Given the description of an element on the screen output the (x, y) to click on. 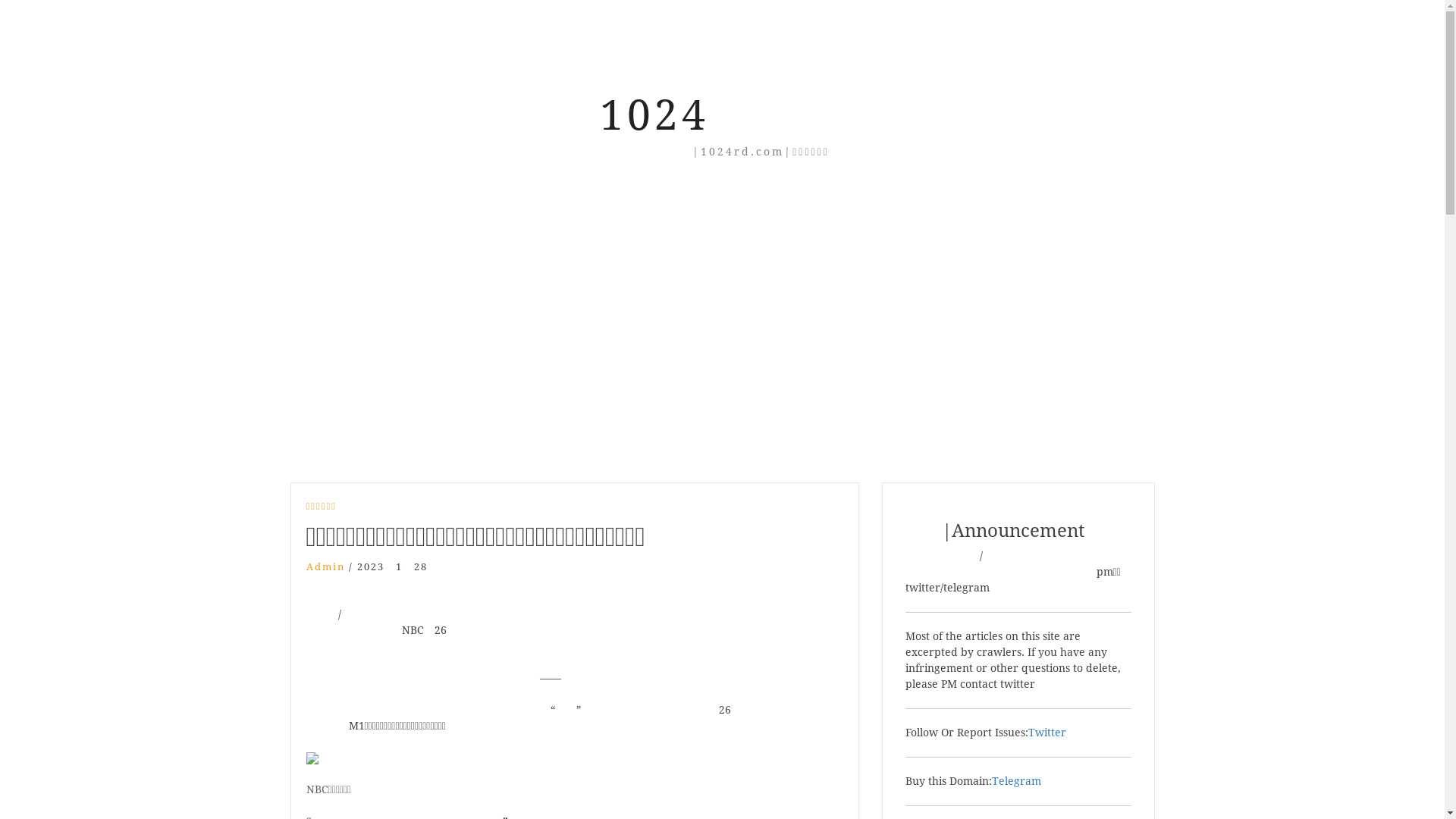
Advertisement Element type: hover (722, 273)
Admin Element type: text (325, 566)
Telegram Element type: text (1016, 781)
Twitter Element type: text (1047, 732)
